Given the description of an element on the screen output the (x, y) to click on. 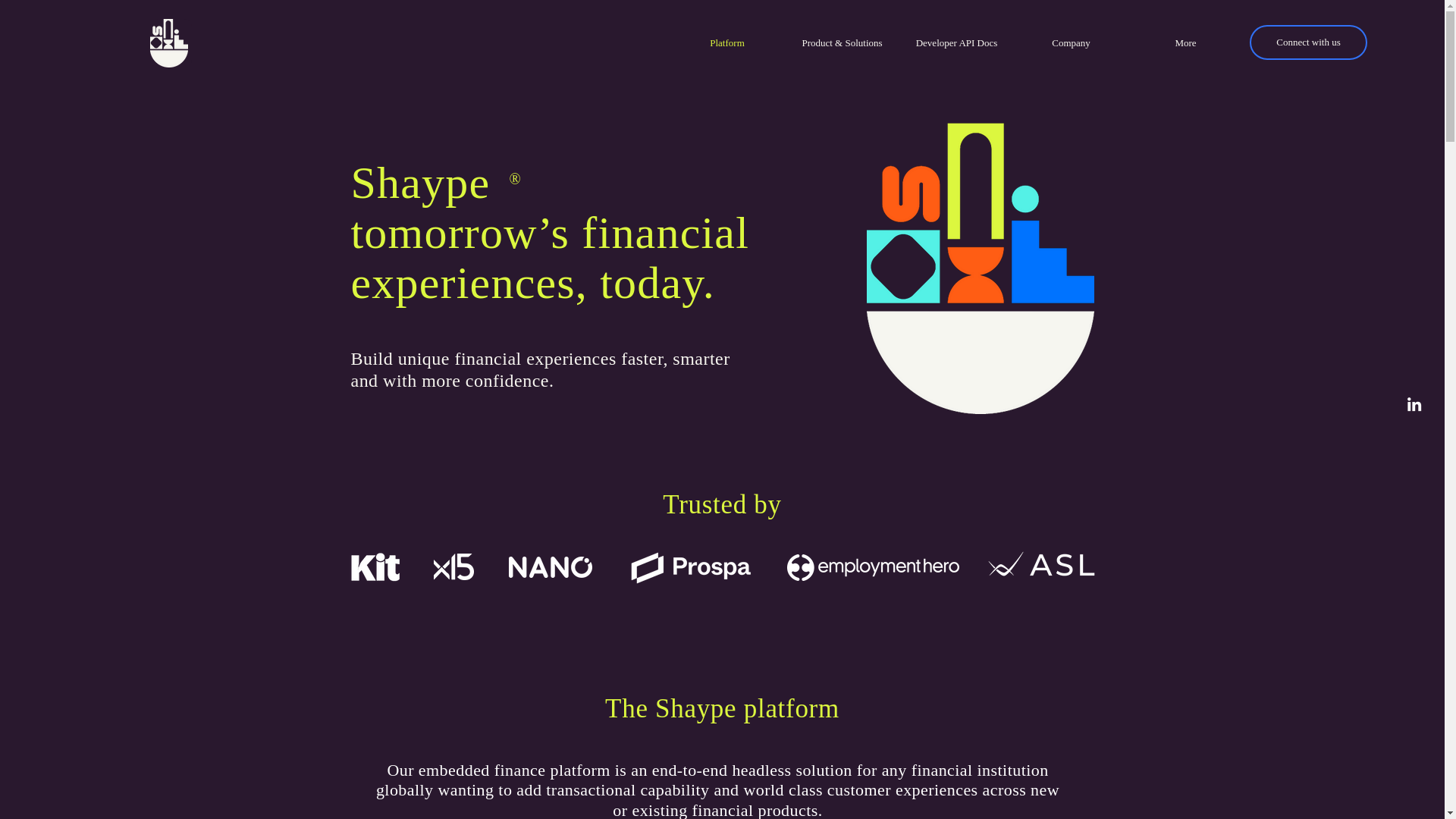
Connect with us (1308, 42)
Developer API Docs (956, 43)
Company (1070, 43)
Platform (726, 43)
